Given the description of an element on the screen output the (x, y) to click on. 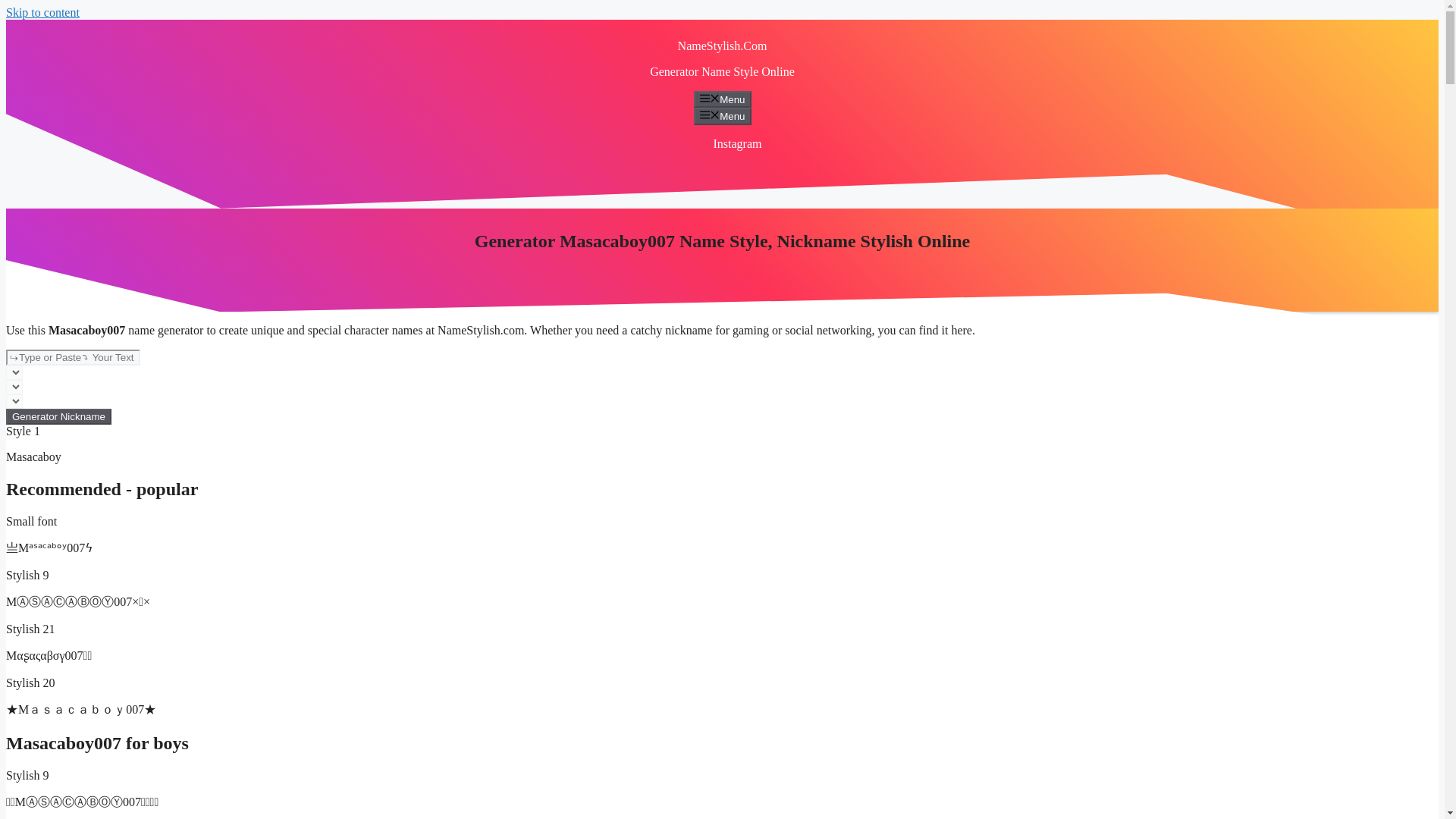
Generator Nickname (58, 416)
Skip to content (42, 11)
Instagram (737, 143)
Skip to content (42, 11)
NameStylish.Com (722, 45)
Menu (722, 98)
Menu (722, 115)
